Given the description of an element on the screen output the (x, y) to click on. 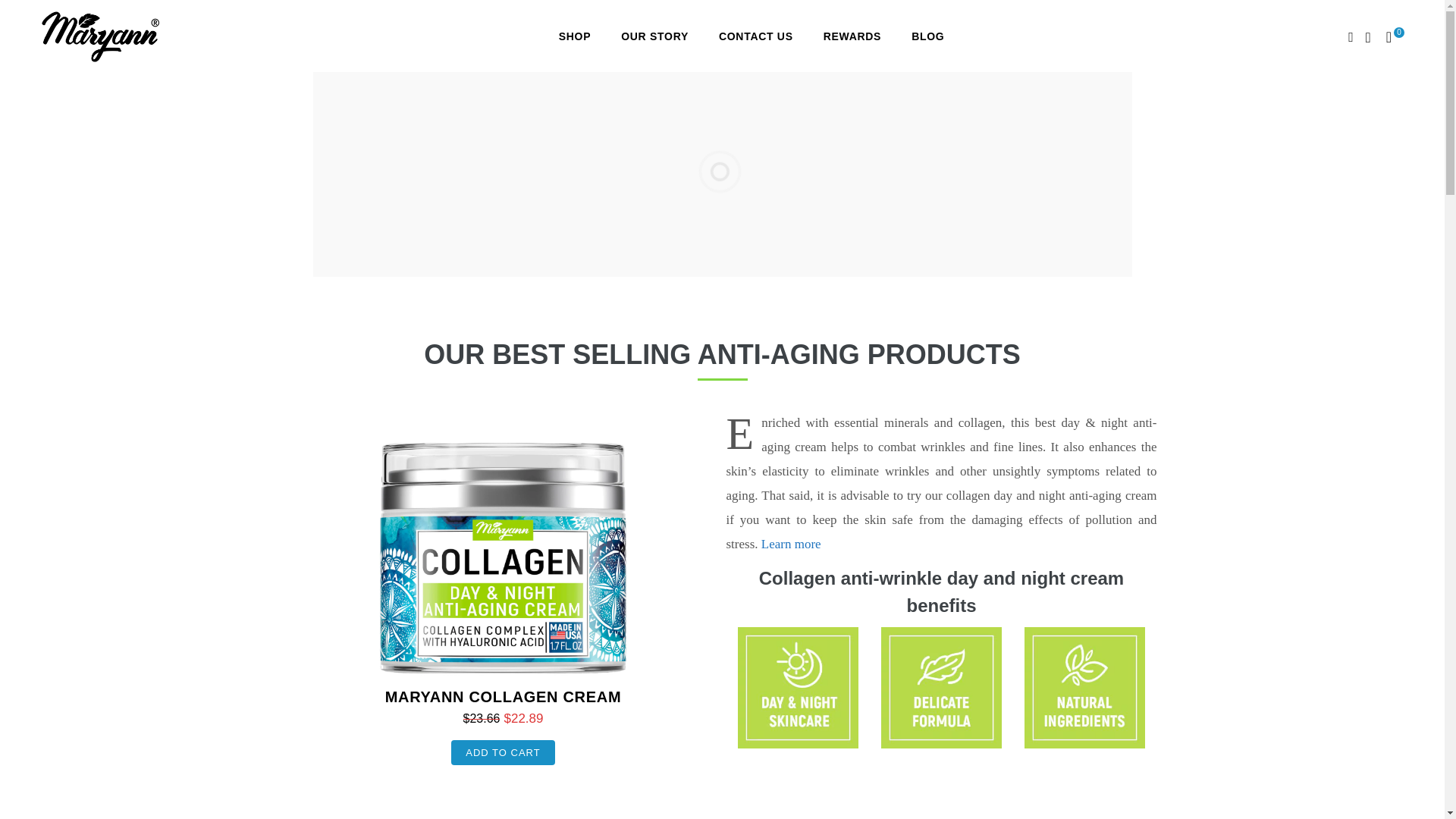
REWARDS (852, 36)
CONTACT US (755, 36)
OUR STORY (654, 36)
BLOG (927, 36)
SHOP (574, 36)
